Given the description of an element on the screen output the (x, y) to click on. 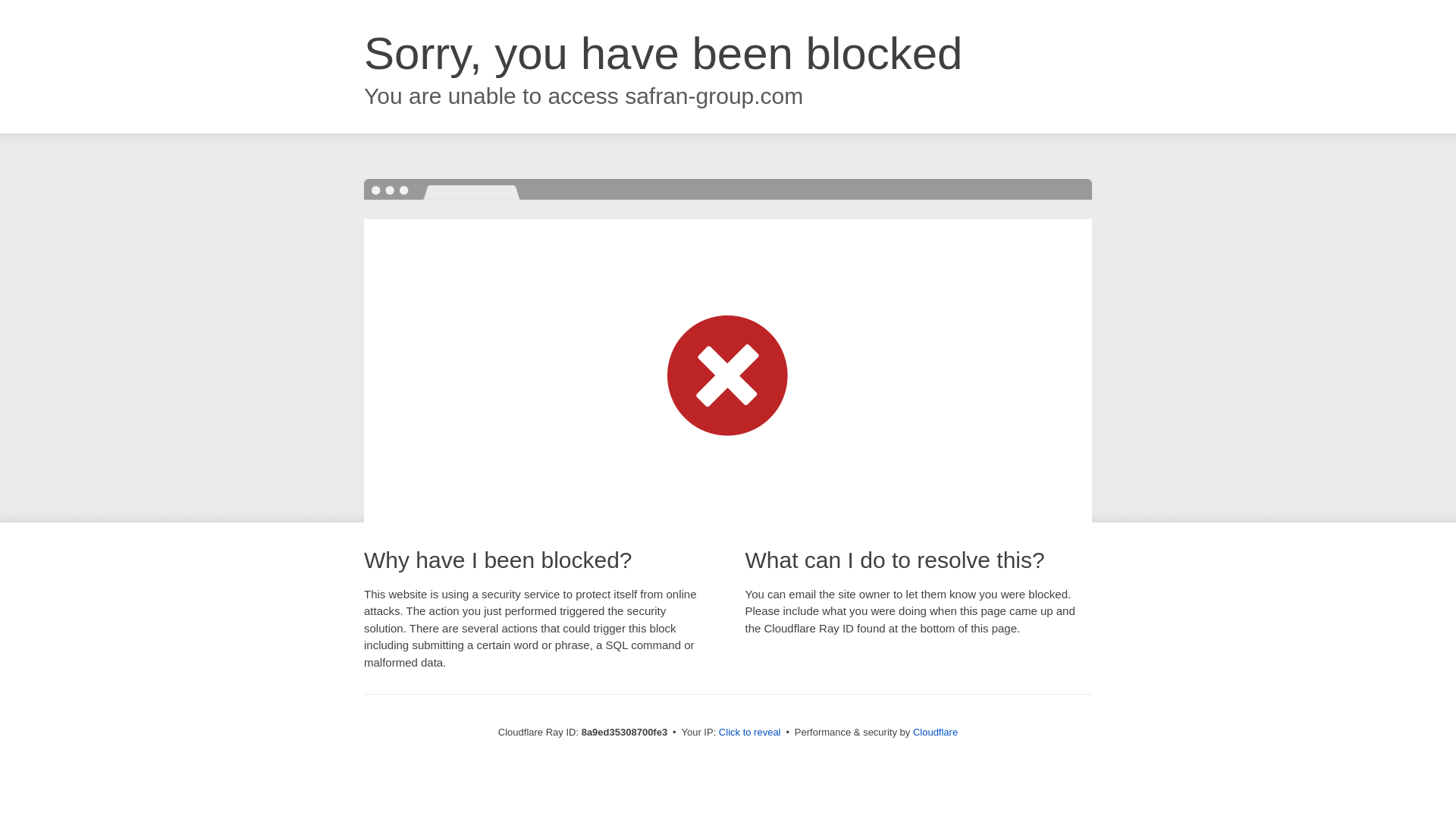
Cloudflare (935, 731)
Click to reveal (749, 732)
